Given the description of an element on the screen output the (x, y) to click on. 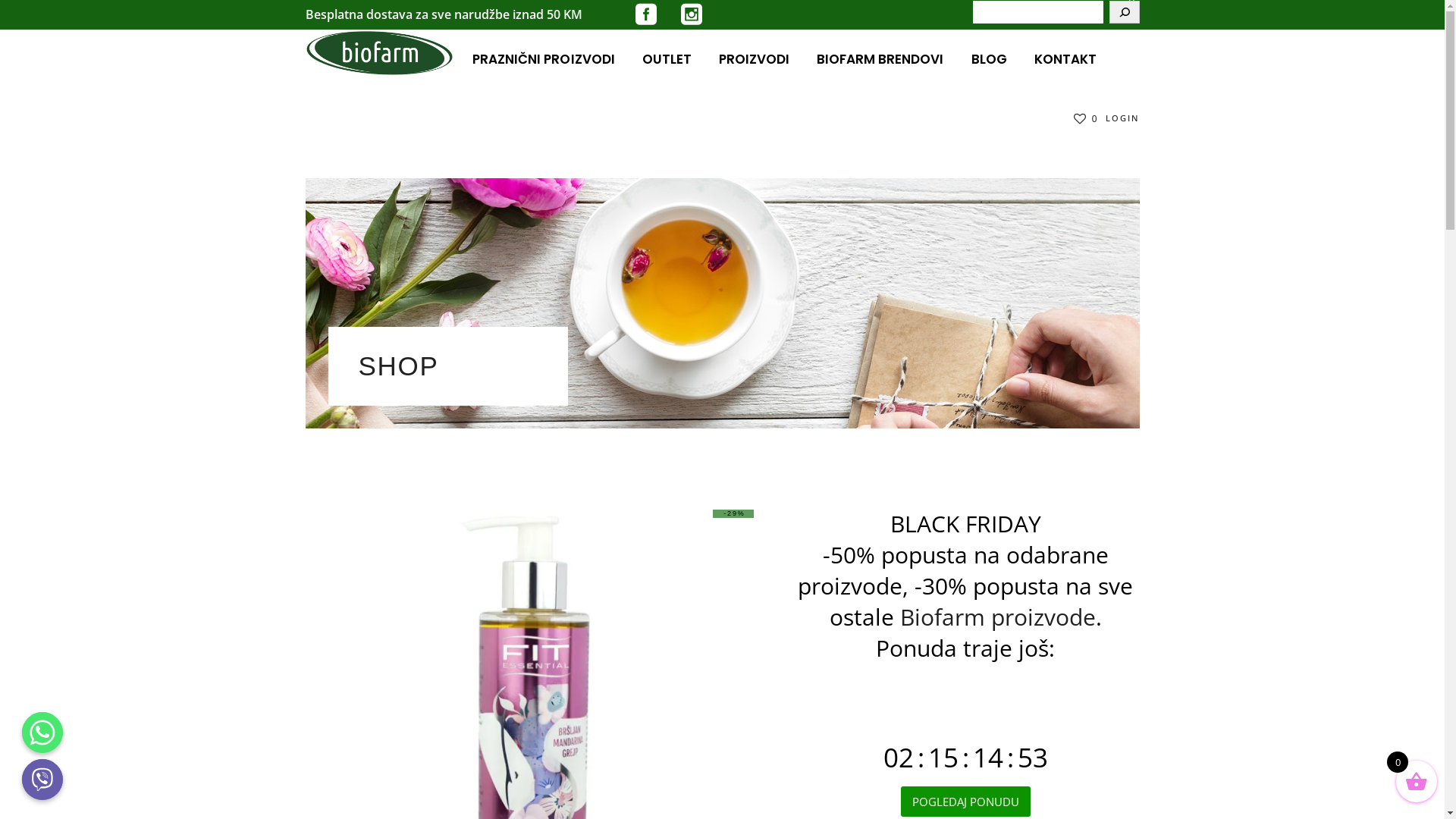
OUTLET Element type: text (666, 58)
Biofarm proizvode Element type: text (997, 616)
POGLEDAJ PONUDU Element type: text (965, 801)
PROIZVODI Element type: text (754, 58)
0 Element type: text (1085, 117)
BLOG Element type: text (988, 58)
LOGIN Element type: text (1122, 117)
KONTAKT Element type: text (1065, 58)
BIOFARM BRENDOVI Element type: text (880, 58)
